Given the description of an element on the screen output the (x, y) to click on. 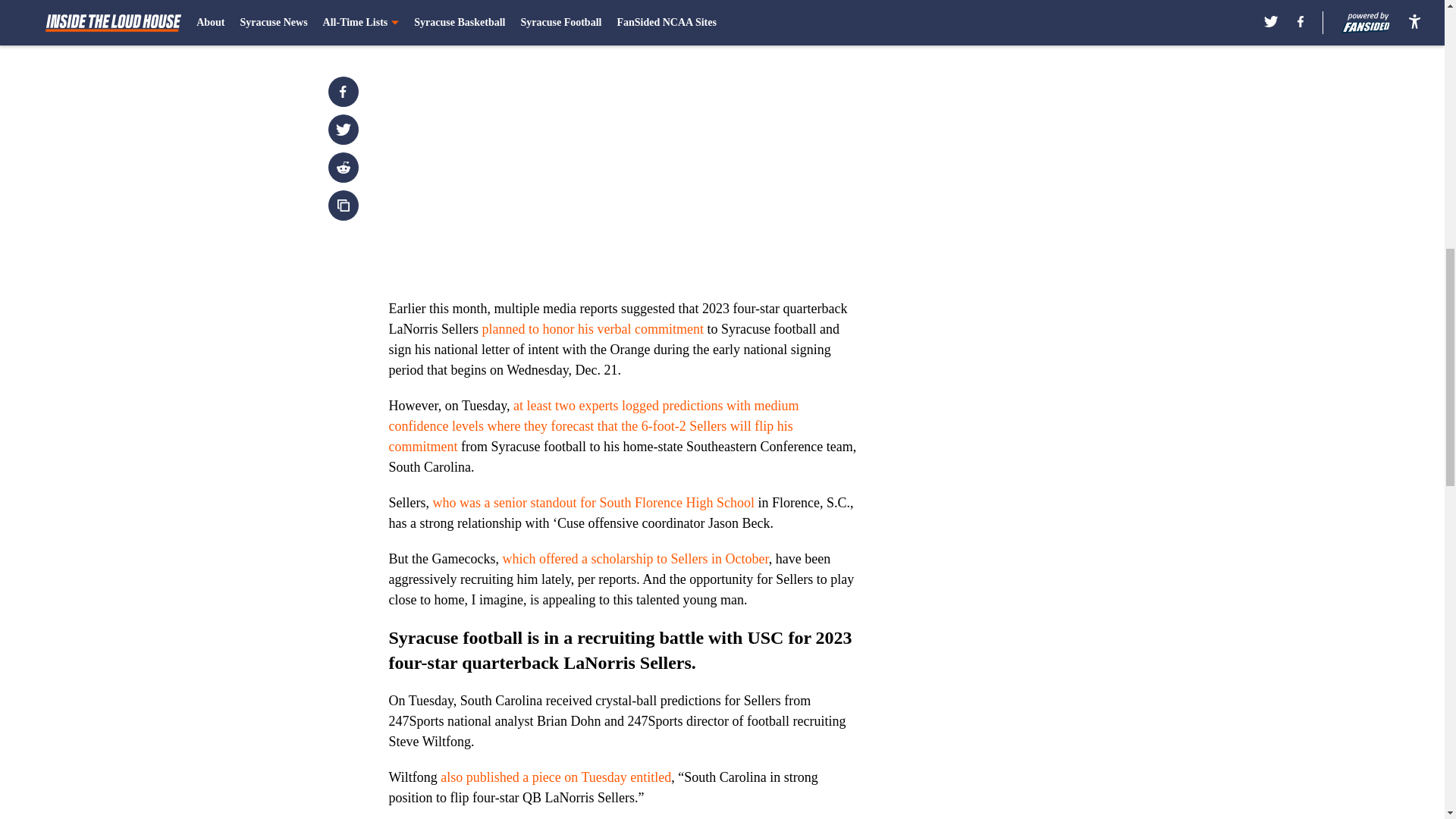
planned to honor his verbal commitment (592, 328)
also published a piece on Tuesday entitled (556, 776)
who was a senior standout for South Florence High School (593, 502)
which offered a scholarship to Sellers in October (635, 558)
